Given the description of an element on the screen output the (x, y) to click on. 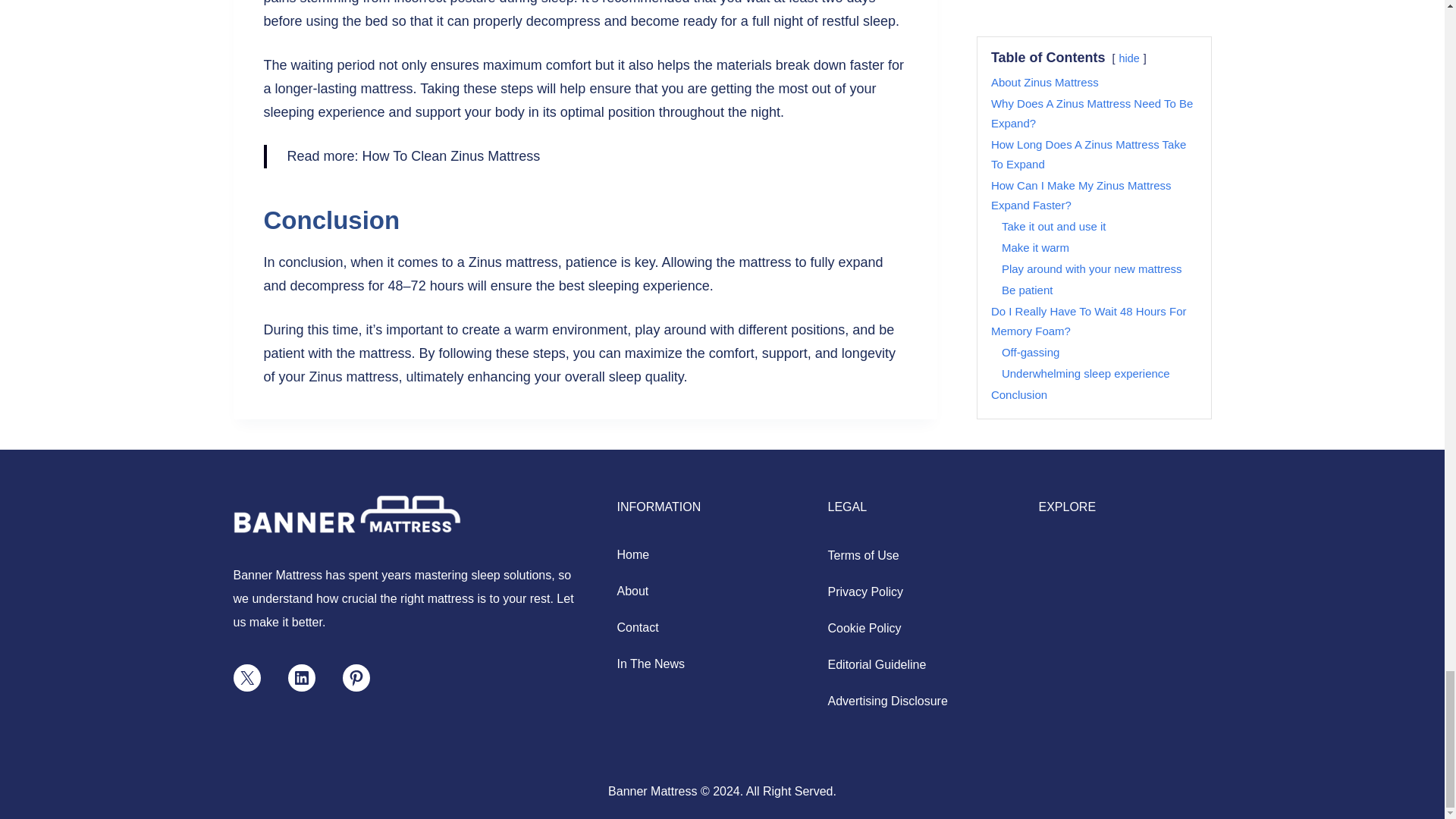
Banner Mattress logo (346, 514)
